Given the description of an element on the screen output the (x, y) to click on. 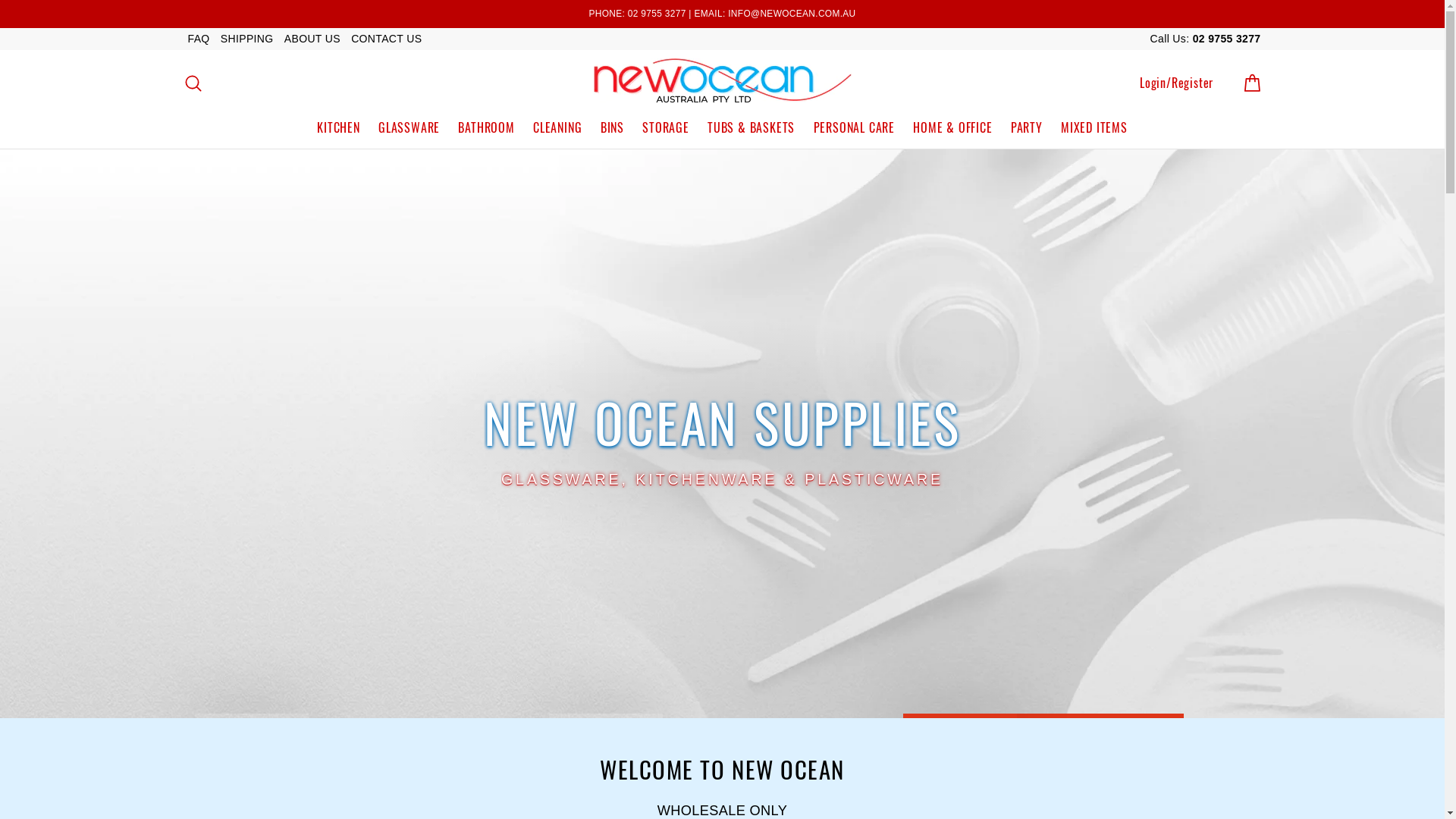
CART Element type: text (1250, 82)
MIXED ITEMS Element type: text (1093, 127)
Login/Register Element type: text (1176, 82)
2 Element type: text (605, 712)
KITCHEN Element type: text (338, 127)
1 Element type: text (251, 712)
PARTY Element type: text (1026, 127)
HOME & OFFICE Element type: text (952, 127)
Skip to content Element type: text (0, 0)
CONTACT US Element type: text (386, 39)
SHIPPING Element type: text (246, 39)
SEARCH Element type: text (192, 82)
CLEANING Element type: text (557, 127)
FAQ Element type: text (198, 39)
STORAGE Element type: text (665, 127)
BATHROOM Element type: text (486, 127)
PERSONAL CARE Element type: text (853, 127)
TUBS & BASKETS Element type: text (750, 127)
3 Element type: text (959, 714)
GLASSWARE Element type: text (408, 127)
ABOUT US Element type: text (312, 39)
BINS Element type: text (612, 127)
